Given the description of an element on the screen output the (x, y) to click on. 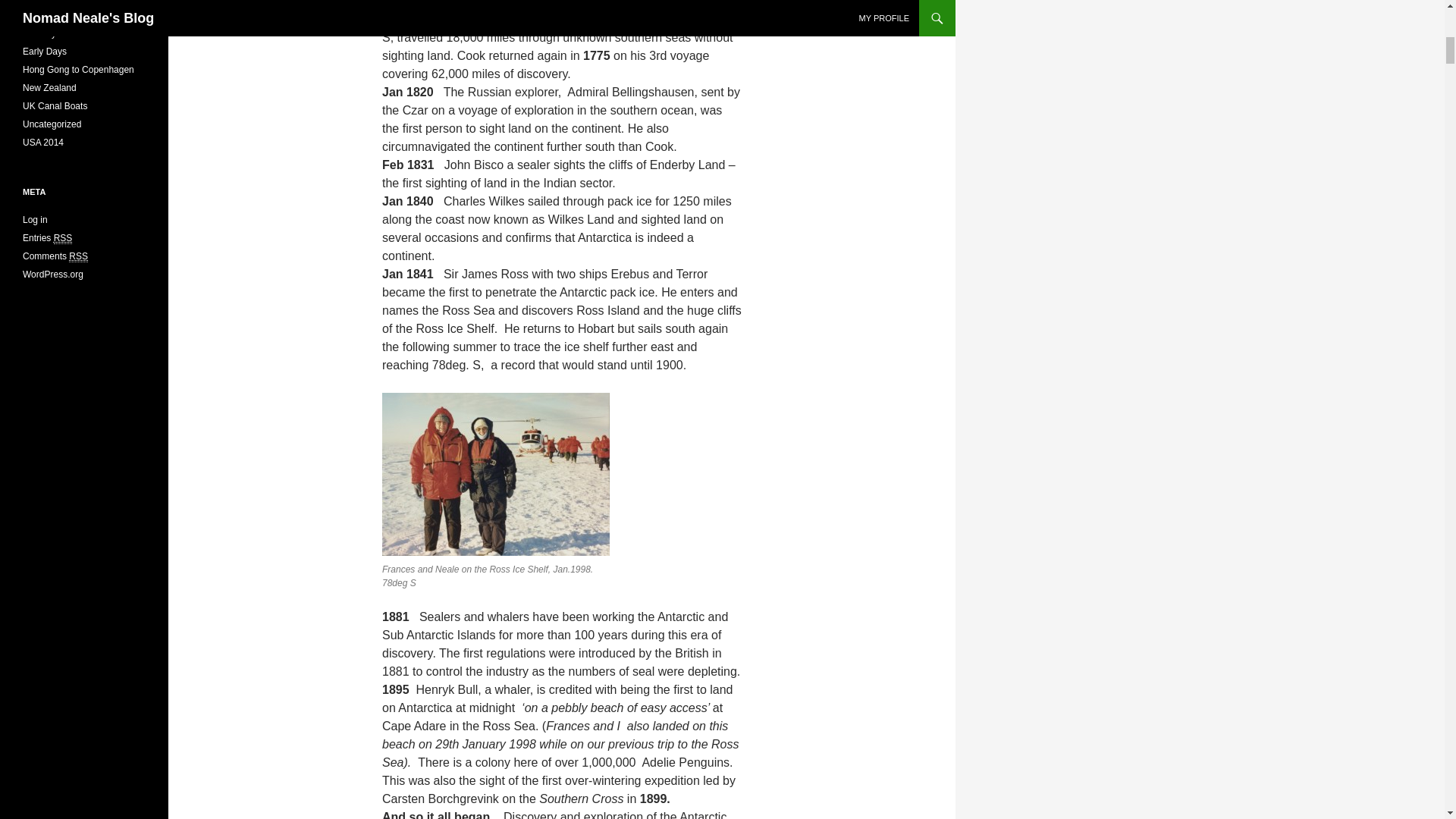
Really Simple Syndication (62, 238)
Really Simple Syndication (77, 256)
